Given the description of an element on the screen output the (x, y) to click on. 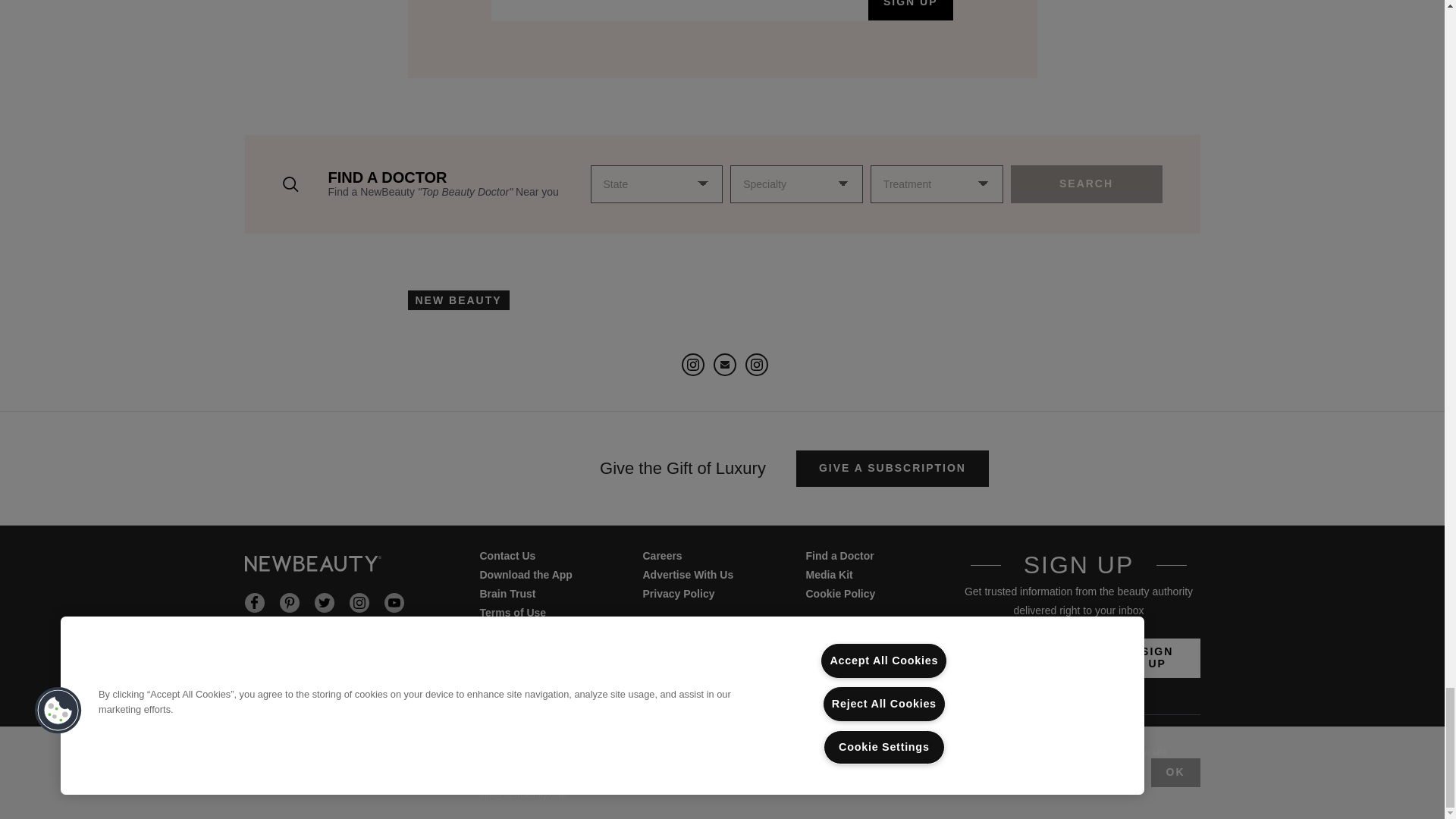
Sign Up (1157, 658)
Sign Up (910, 10)
